Given the description of an element on the screen output the (x, y) to click on. 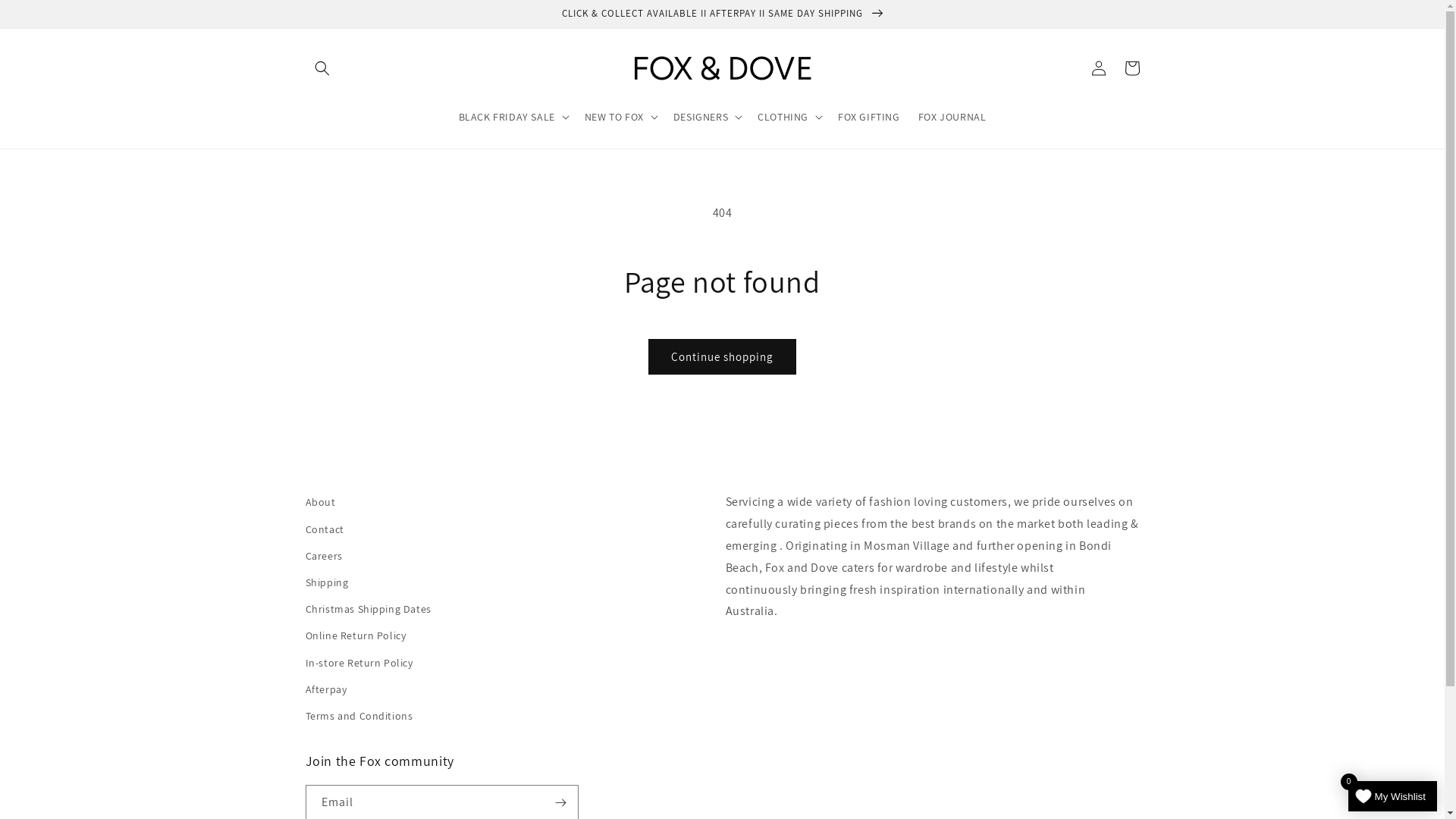
Online Return Policy Element type: text (354, 635)
Continue shopping Element type: text (722, 356)
CLICK & COLLECT AVAILABLE II AFTERPAY II SAME DAY SHIPPING Element type: text (722, 14)
Careers Element type: text (323, 555)
Contact Element type: text (323, 529)
Terms and Conditions Element type: text (358, 715)
Shipping Element type: text (326, 582)
FOX JOURNAL Element type: text (952, 116)
My Wishlist
0 Element type: text (1392, 796)
Cart Element type: text (1131, 67)
FOX GIFTING Element type: text (868, 116)
In-store Return Policy Element type: text (358, 662)
Log in Element type: text (1097, 67)
Afterpay Element type: text (325, 689)
Christmas Shipping Dates Element type: text (367, 609)
About Element type: text (319, 503)
